Given the description of an element on the screen output the (x, y) to click on. 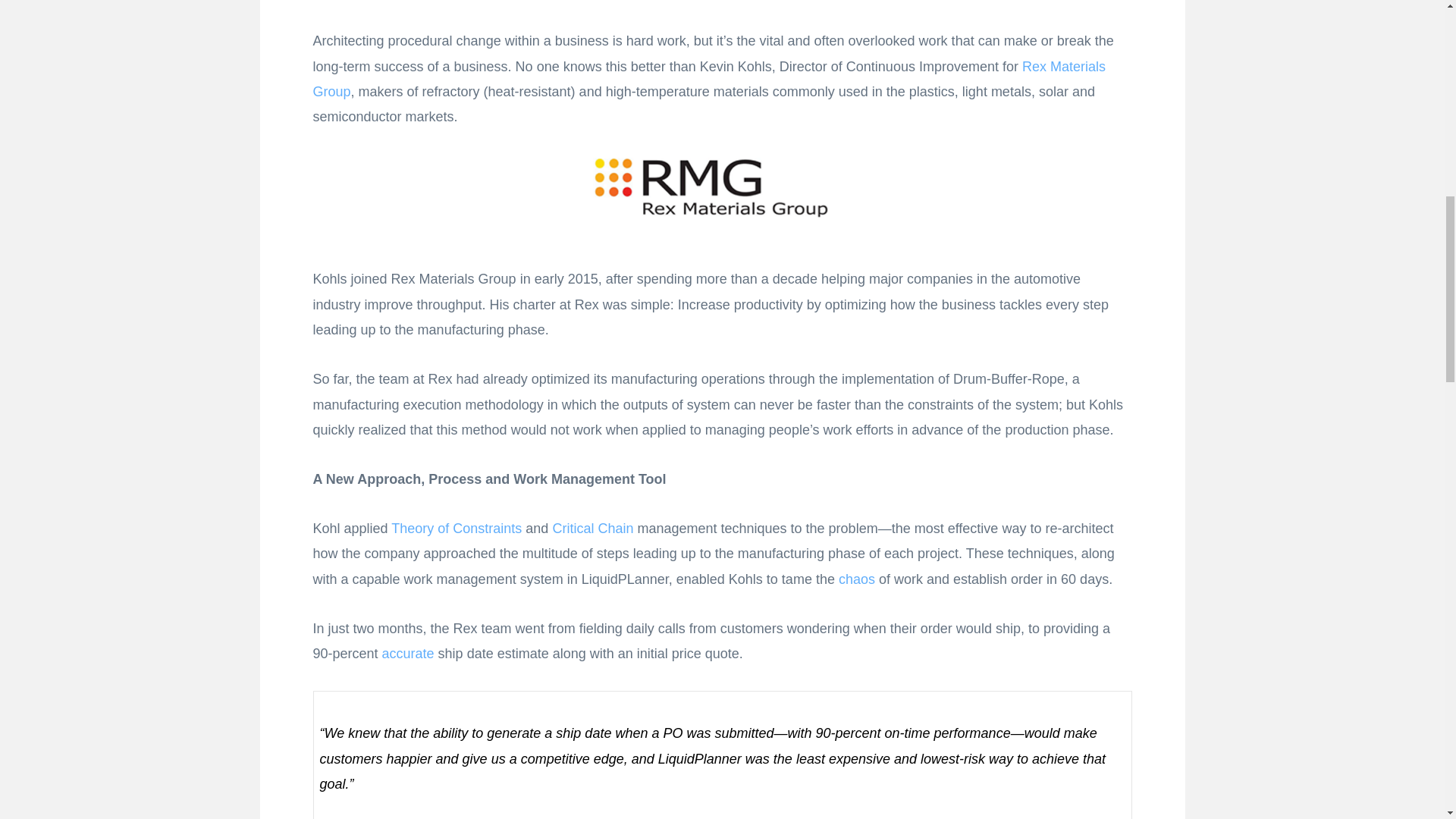
Rex Materials Group (709, 78)
